Given the description of an element on the screen output the (x, y) to click on. 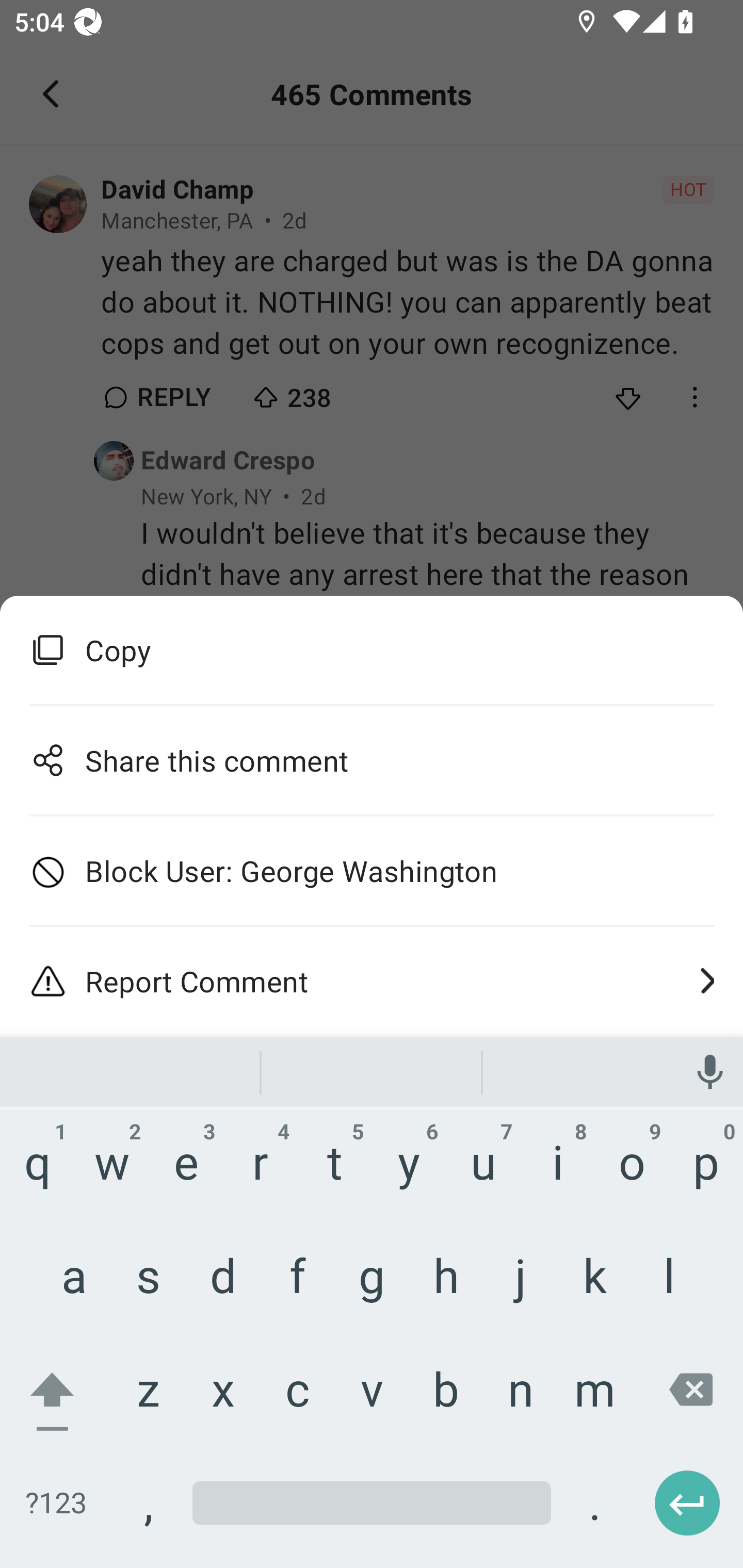
Copy (371, 649)
Share this comment (371, 759)
Block User: George Washington  (371, 870)
Report Comment (371, 980)
